Given the description of an element on the screen output the (x, y) to click on. 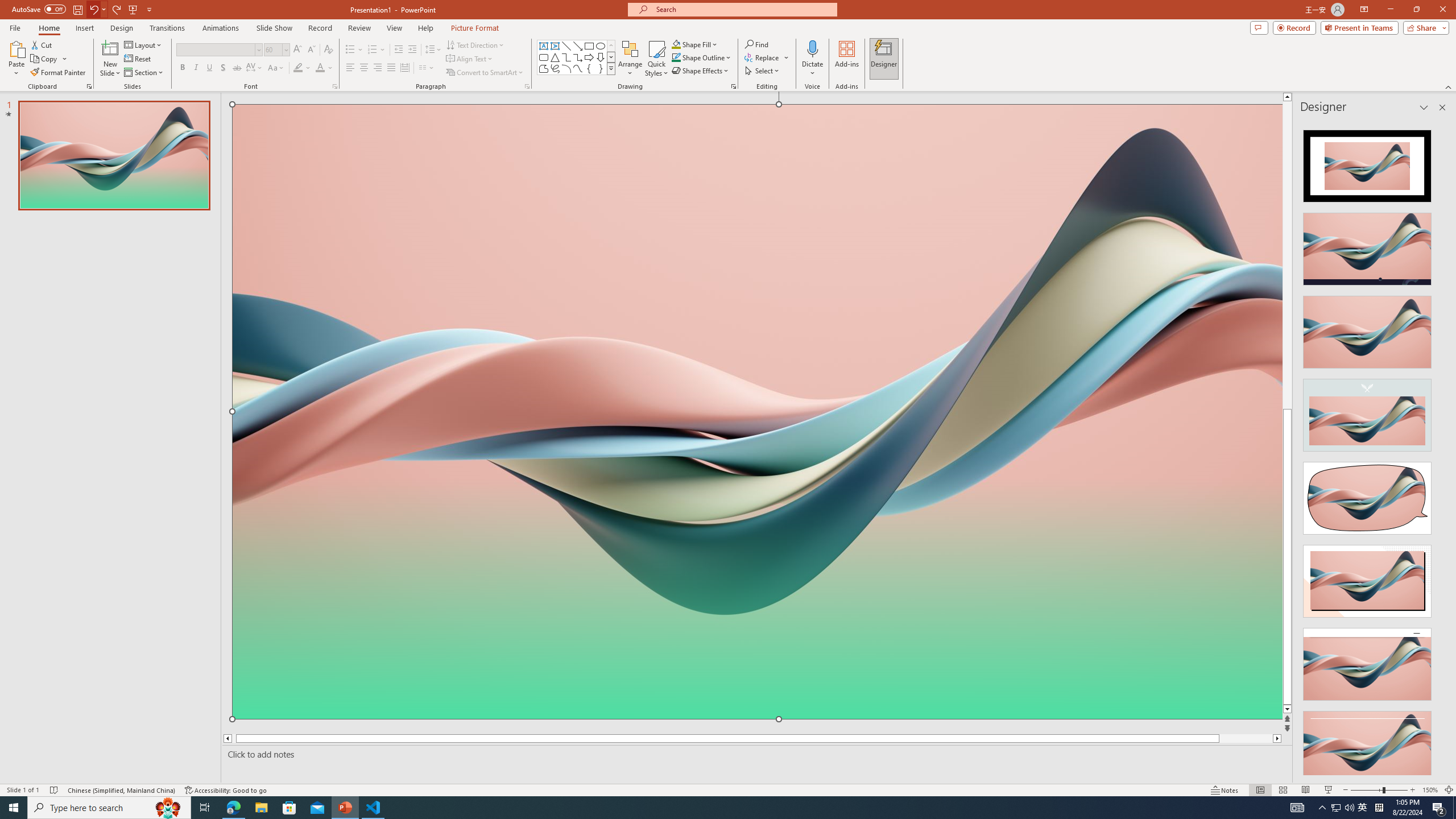
Picture Format (475, 28)
